Given the description of an element on the screen output the (x, y) to click on. 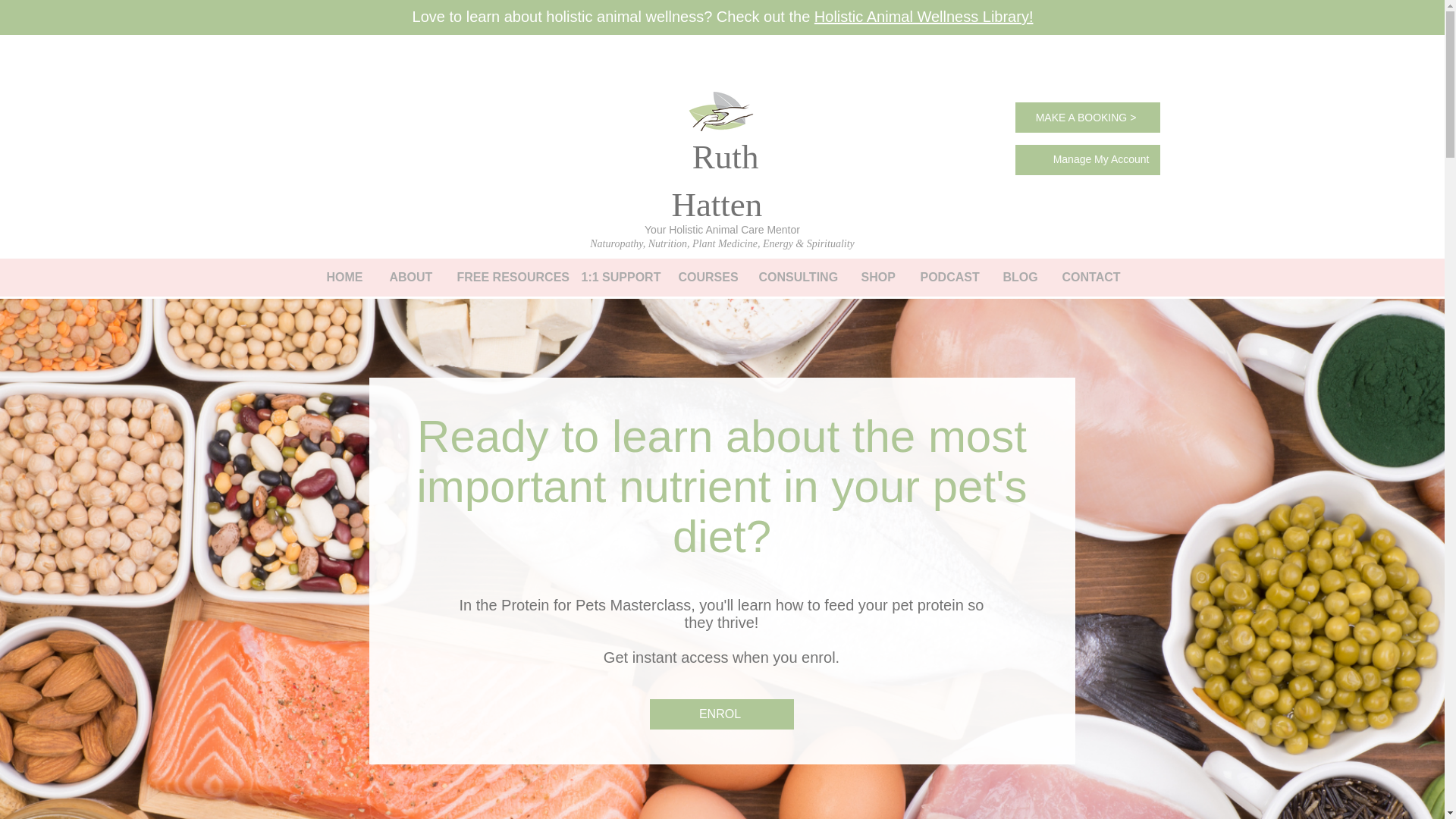
ENROL (721, 714)
Manage My Account (1101, 159)
BLOG (1018, 277)
Holistic Animal Wellness Library! (923, 16)
COURSES (703, 277)
HOME (344, 277)
PODCAST (948, 277)
1:1 SUPPORT (615, 277)
SHOP (877, 277)
 Ruth Hatten  (720, 180)
